Given the description of an element on the screen output the (x, y) to click on. 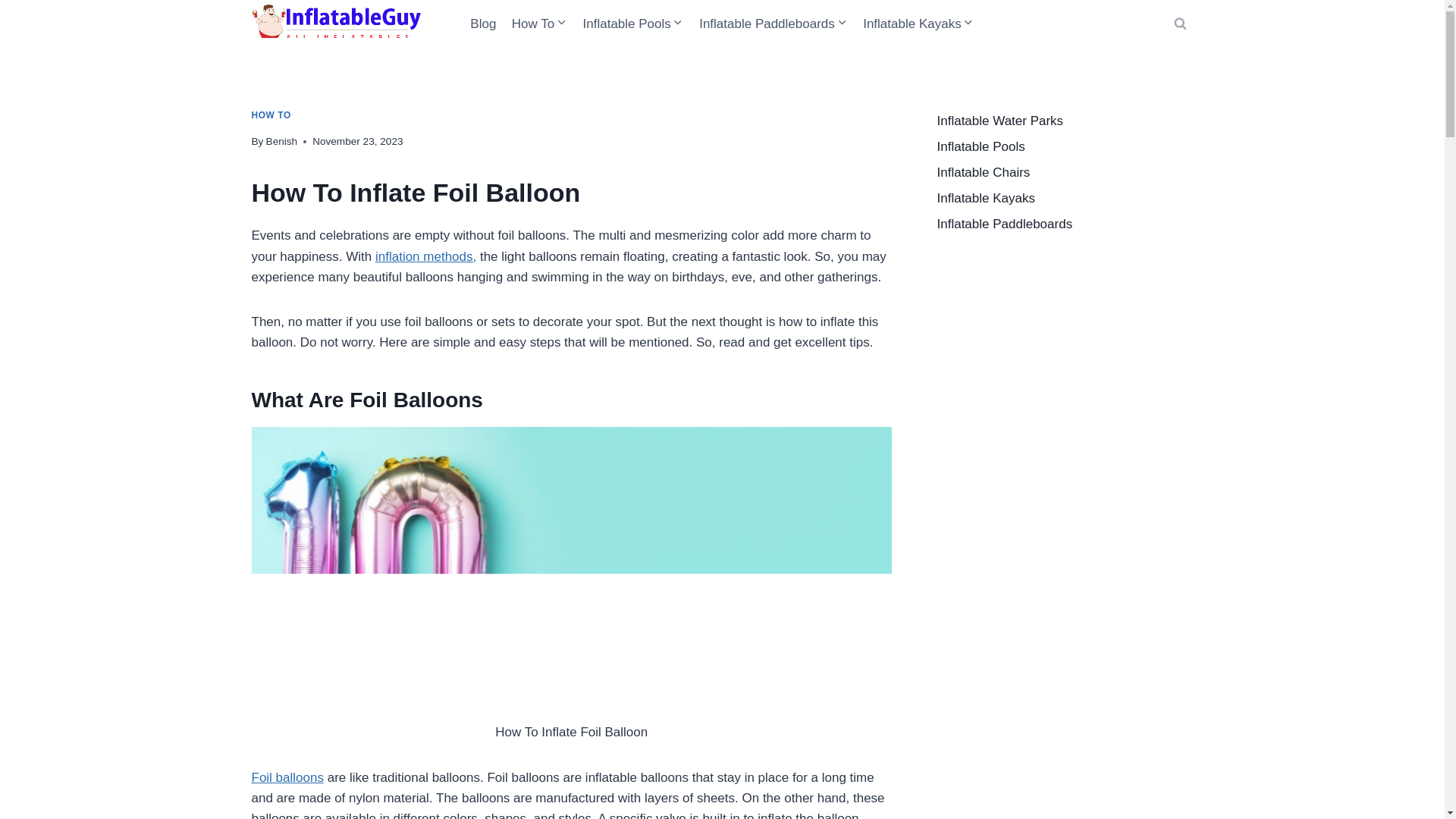
HOW TO (271, 114)
Inflatable Pools (633, 23)
Blog (483, 23)
Inflatable Kayaks (918, 23)
Benish (282, 141)
How To (539, 23)
inflation methods, (425, 256)
Inflatable Paddleboards (773, 23)
Foil balloons (287, 777)
Advertisement (1065, 362)
